Given the description of an element on the screen output the (x, y) to click on. 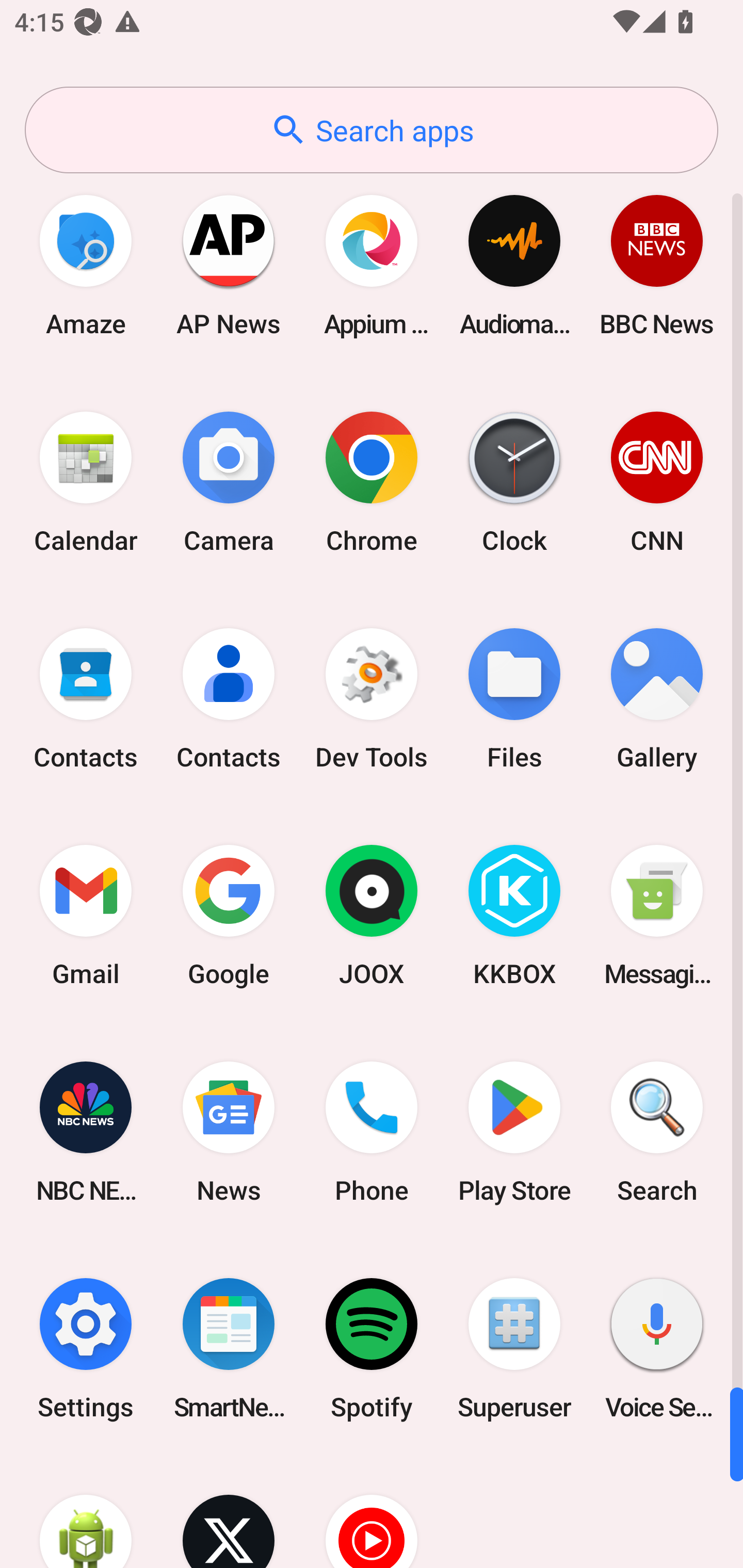
  Search apps (371, 130)
Amaze (85, 264)
AP News (228, 264)
Appium Settings (371, 264)
Audio­mack (514, 264)
BBC News (656, 264)
Calendar (85, 482)
Camera (228, 482)
Chrome (371, 482)
Clock (514, 482)
CNN (656, 482)
Contacts (85, 699)
Contacts (228, 699)
Dev Tools (371, 699)
Files (514, 699)
Gallery (656, 699)
Gmail (85, 915)
Google (228, 915)
JOOX (371, 915)
KKBOX (514, 915)
Messaging (656, 915)
NBC NEWS (85, 1131)
News (228, 1131)
Phone (371, 1131)
Play Store (514, 1131)
Search (656, 1131)
Settings (85, 1348)
SmartNews (228, 1348)
Spotify (371, 1348)
Superuser (514, 1348)
Voice Search (656, 1348)
WebView Browser Tester (85, 1512)
X (228, 1512)
YT Music (371, 1512)
